Given the description of an element on the screen output the (x, y) to click on. 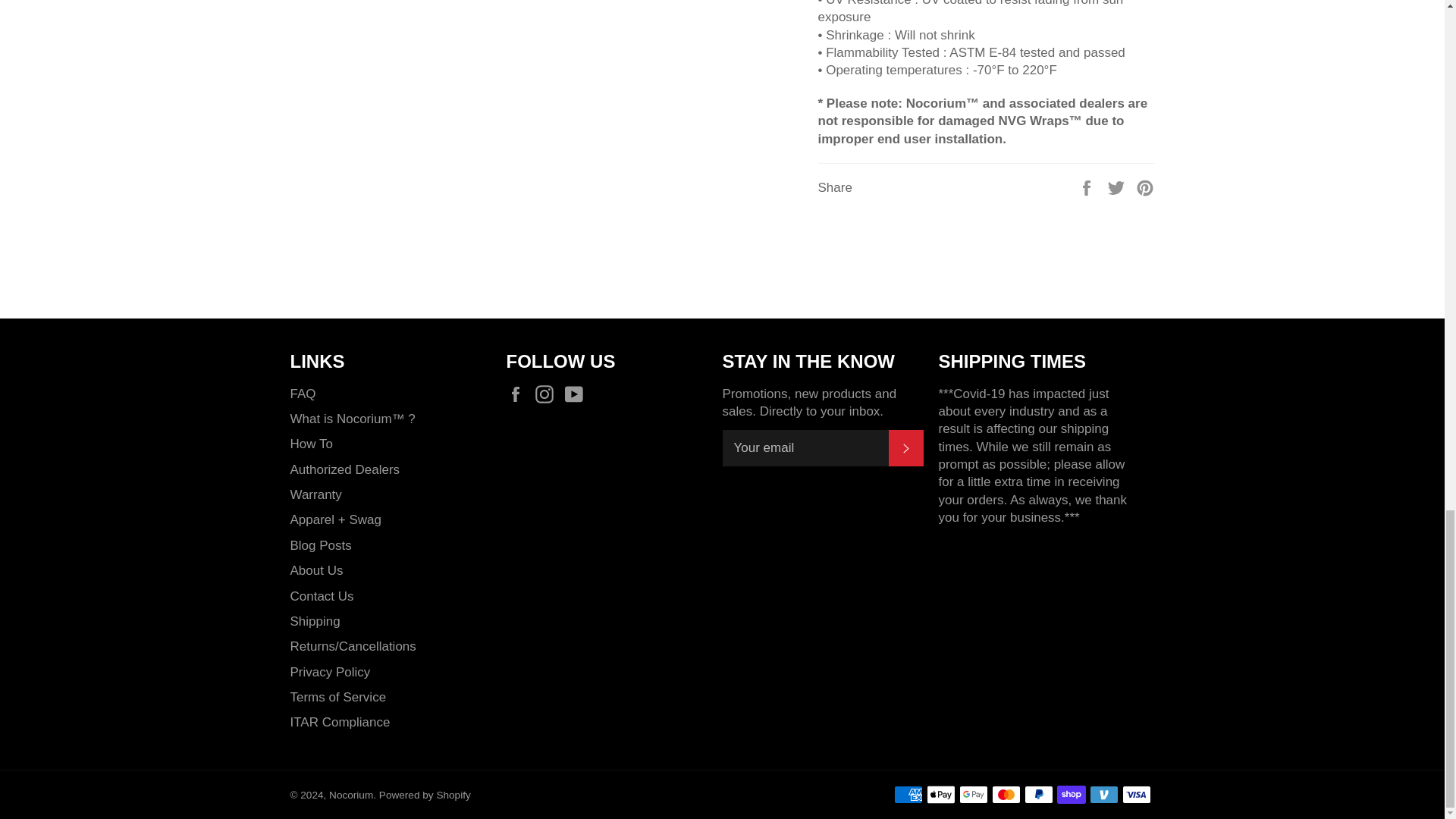
Share on Facebook (1088, 187)
Nocorium on Facebook (519, 394)
Tweet on Twitter (1117, 187)
Pin on Pinterest (1144, 187)
Nocorium on YouTube (577, 394)
Nocorium on Instagram (547, 394)
